Given the description of an element on the screen output the (x, y) to click on. 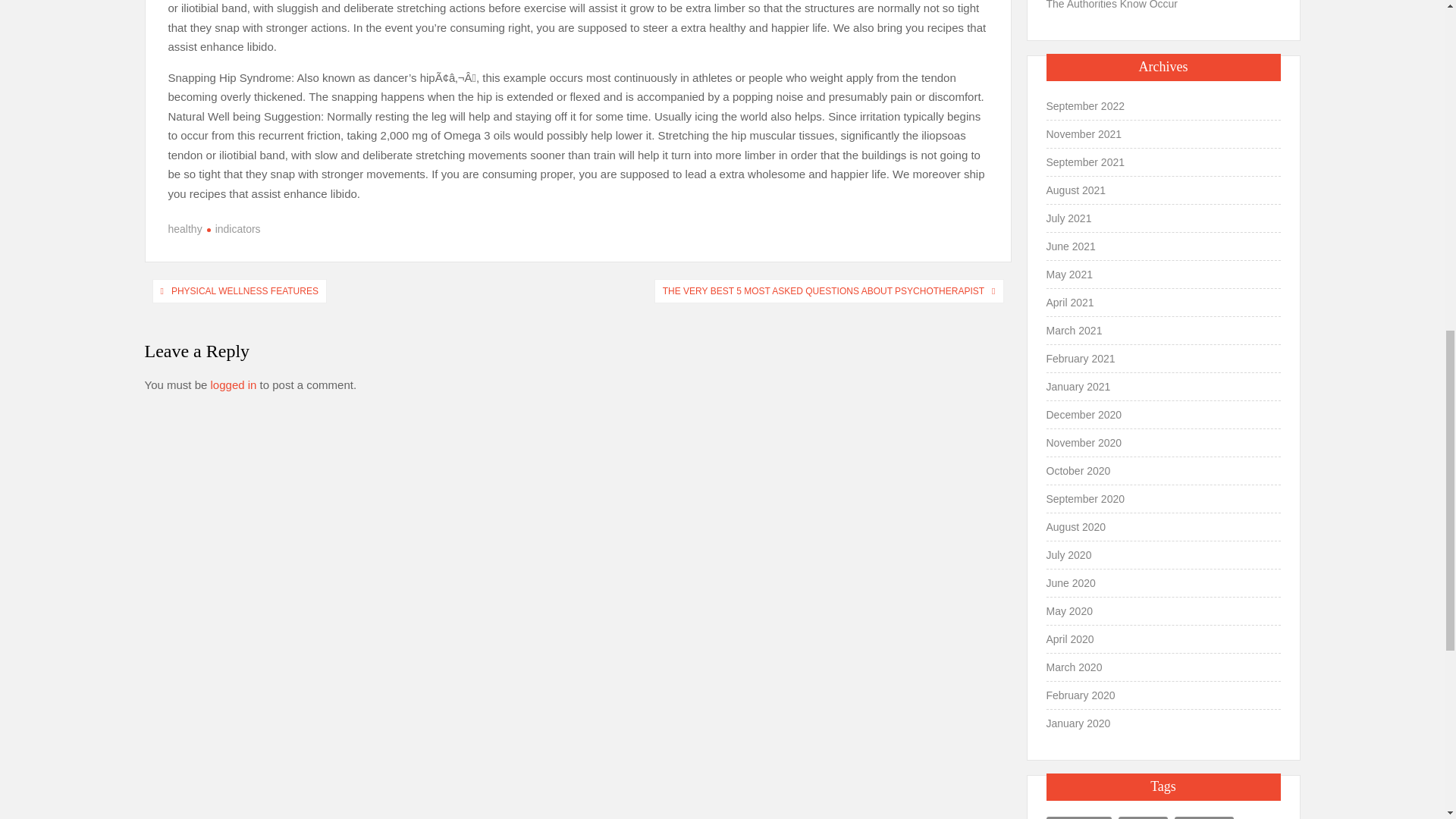
logged in (234, 384)
indicators (233, 228)
THE VERY BEST 5 MOST ASKED QUESTIONS ABOUT PSYCHOTHERAPIST (823, 291)
healthy (185, 228)
PHYSICAL WELLNESS FEATURES (244, 291)
